Given the description of an element on the screen output the (x, y) to click on. 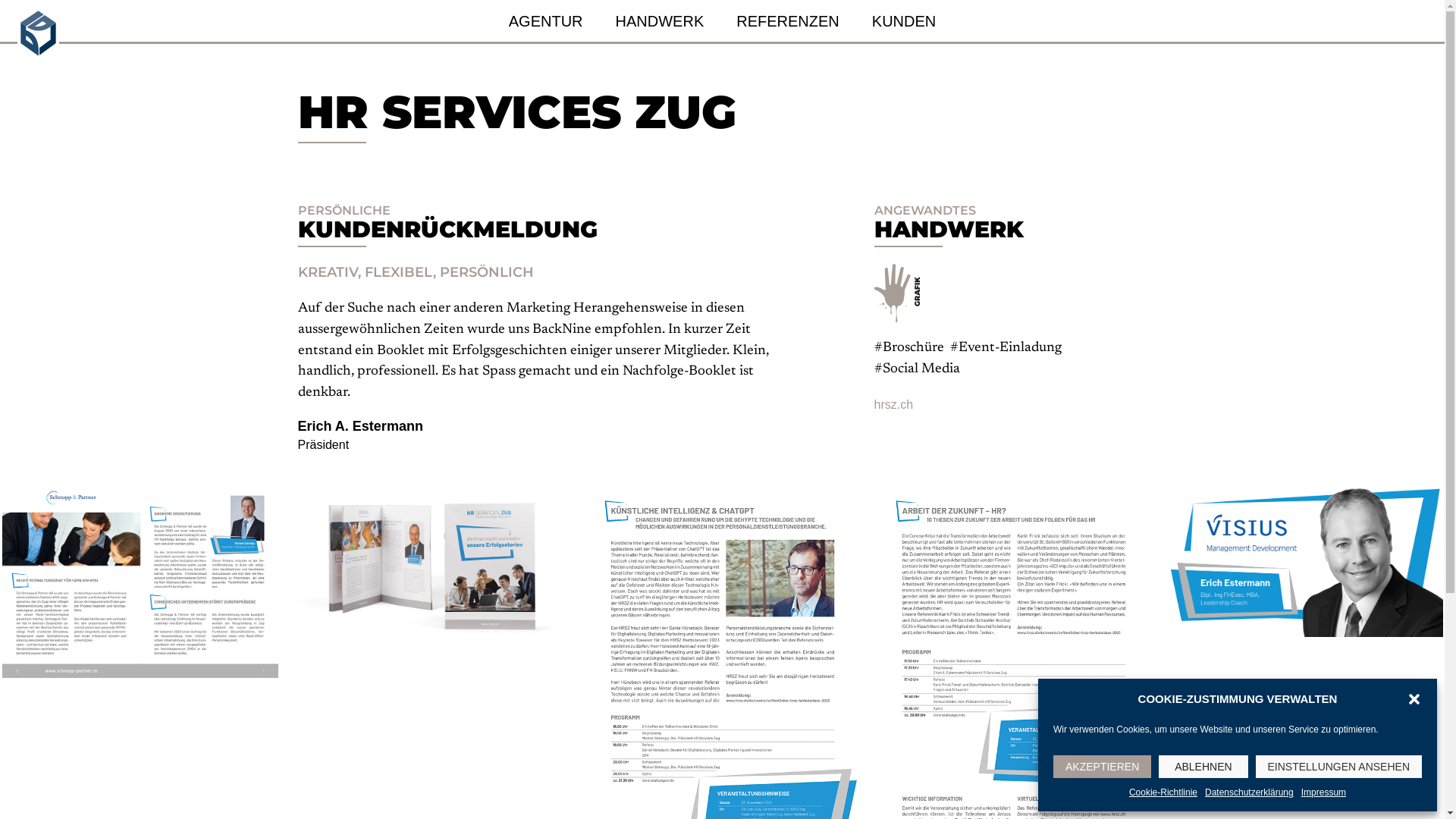
AGENTUR Element type: text (545, 20)
KUNDEN Element type: text (903, 20)
ABLEHNEN Element type: text (1202, 766)
Cookie-Richtlinie Element type: text (1163, 792)
hrsz.ch Element type: text (893, 404)
Impressum Element type: text (1323, 792)
AKZEPTIEREN Element type: text (1102, 766)
HANDWERK Element type: text (659, 20)
EINSTELLUNGEN ANSEHEN Element type: text (1338, 766)
REFERENZEN Element type: text (787, 20)
